Given the description of an element on the screen output the (x, y) to click on. 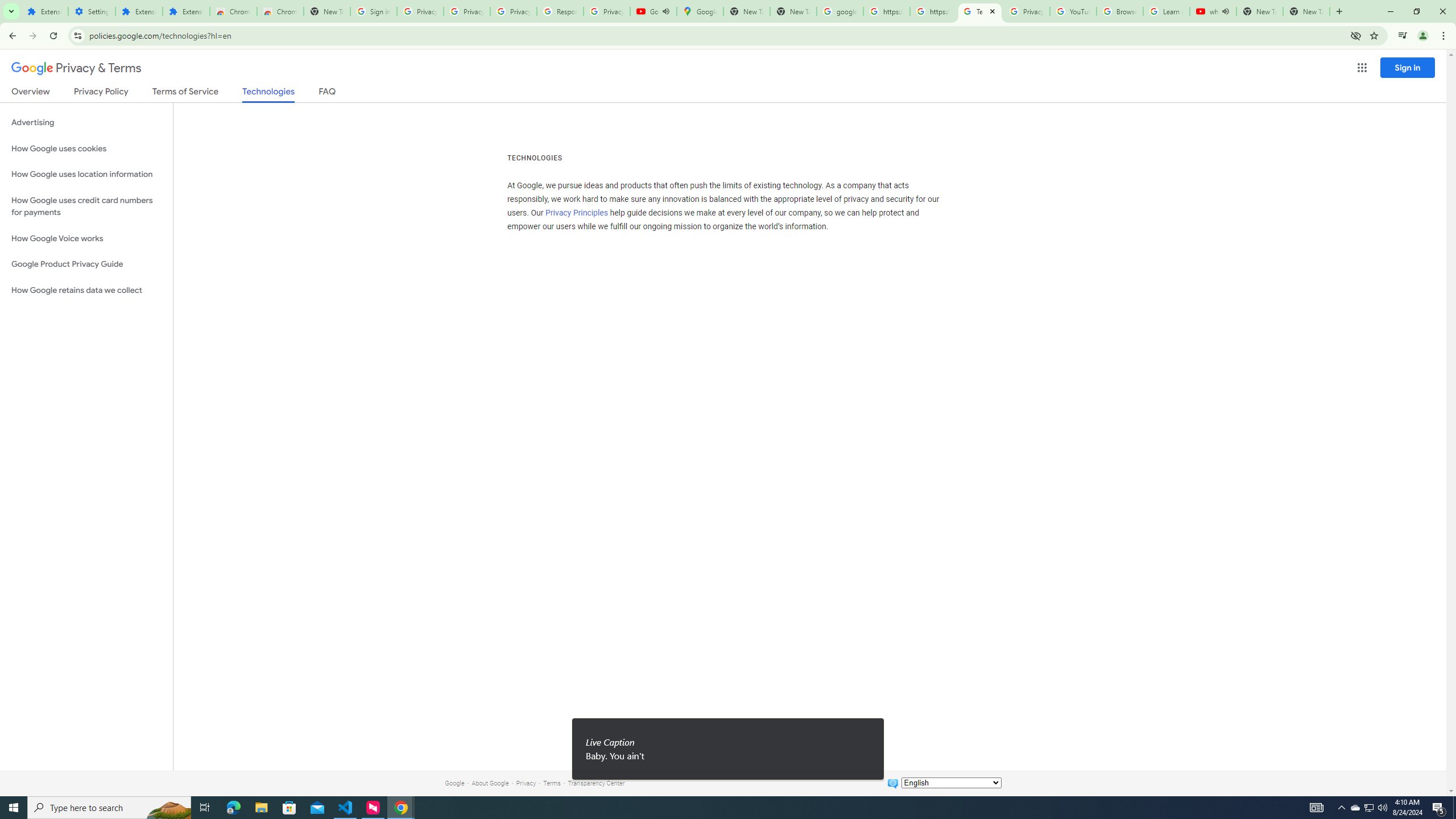
Privacy Principles (577, 213)
Transparency Center (595, 783)
Google Product Privacy Guide (86, 264)
New Tab (1306, 11)
How Google retains data we collect (86, 289)
How Google uses location information (86, 174)
